Given the description of an element on the screen output the (x, y) to click on. 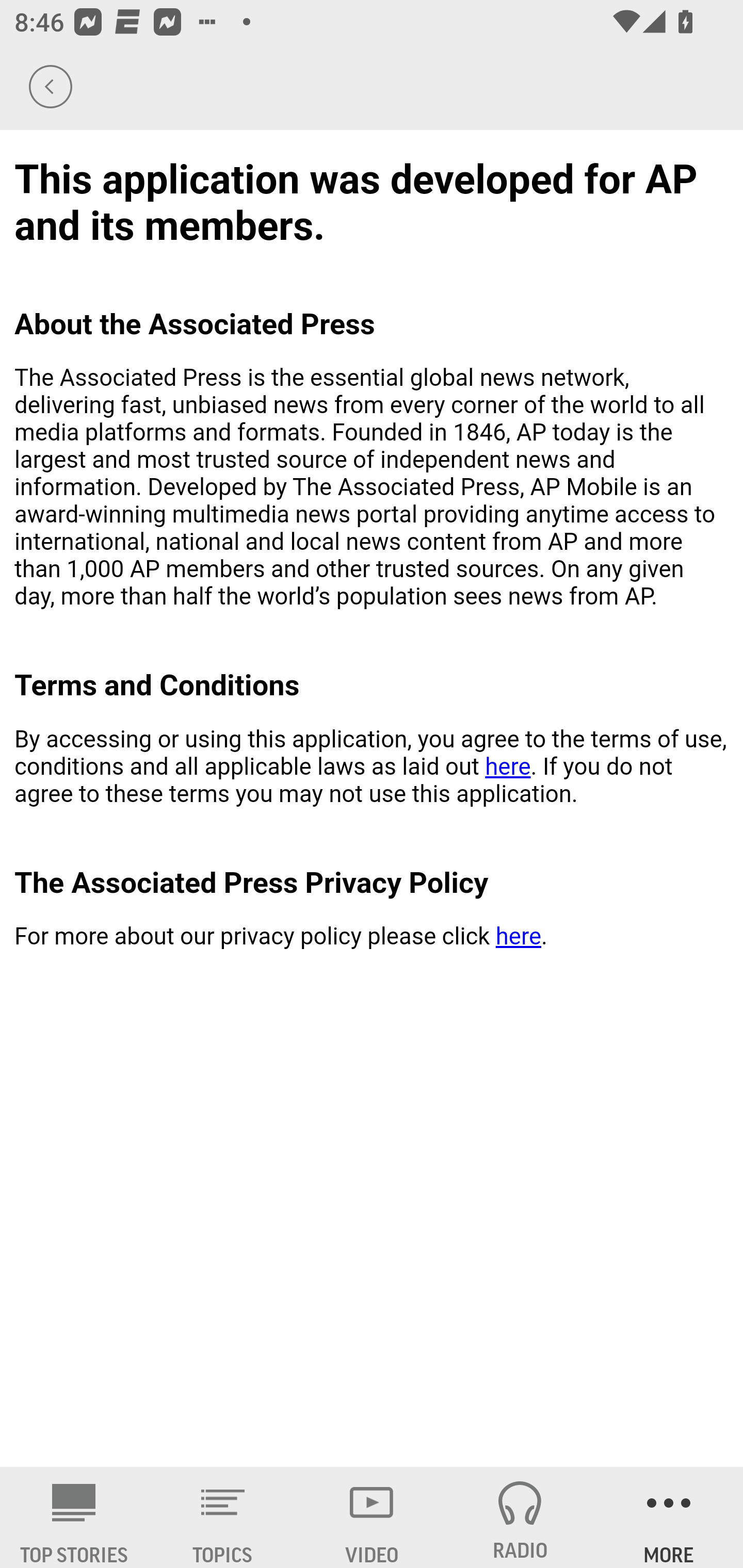
here (507, 766)
here (517, 936)
AP News TOP STORIES (74, 1517)
TOPICS (222, 1517)
VIDEO (371, 1517)
RADIO (519, 1517)
MORE (668, 1517)
